Given the description of an element on the screen output the (x, y) to click on. 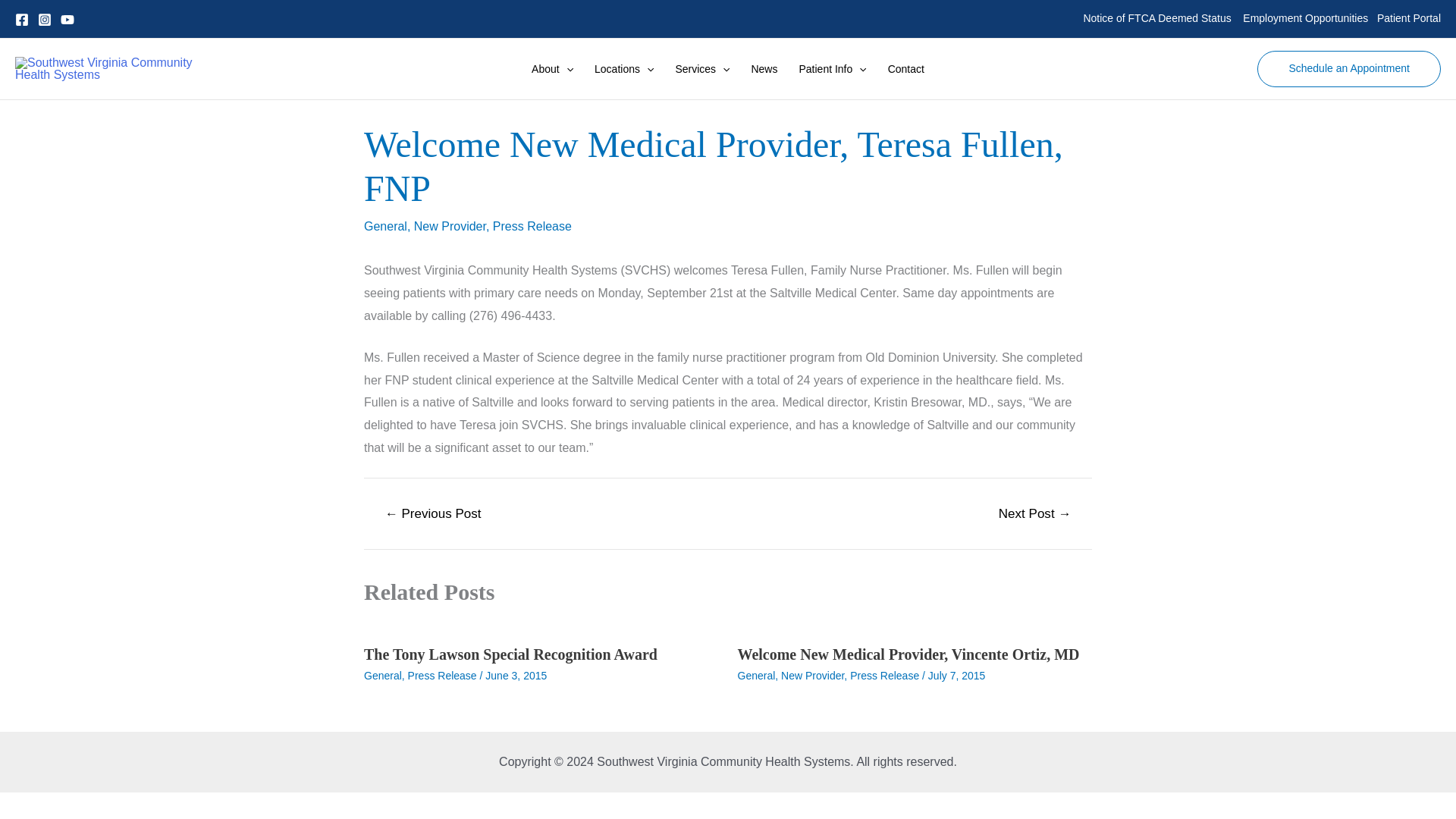
Patient Portal (1409, 18)
Employment Opportunities (1305, 18)
About (552, 68)
Locations (623, 68)
Patient Info (831, 68)
Notice of FTCA Deemed Status (1156, 18)
Services (701, 68)
